Given the description of an element on the screen output the (x, y) to click on. 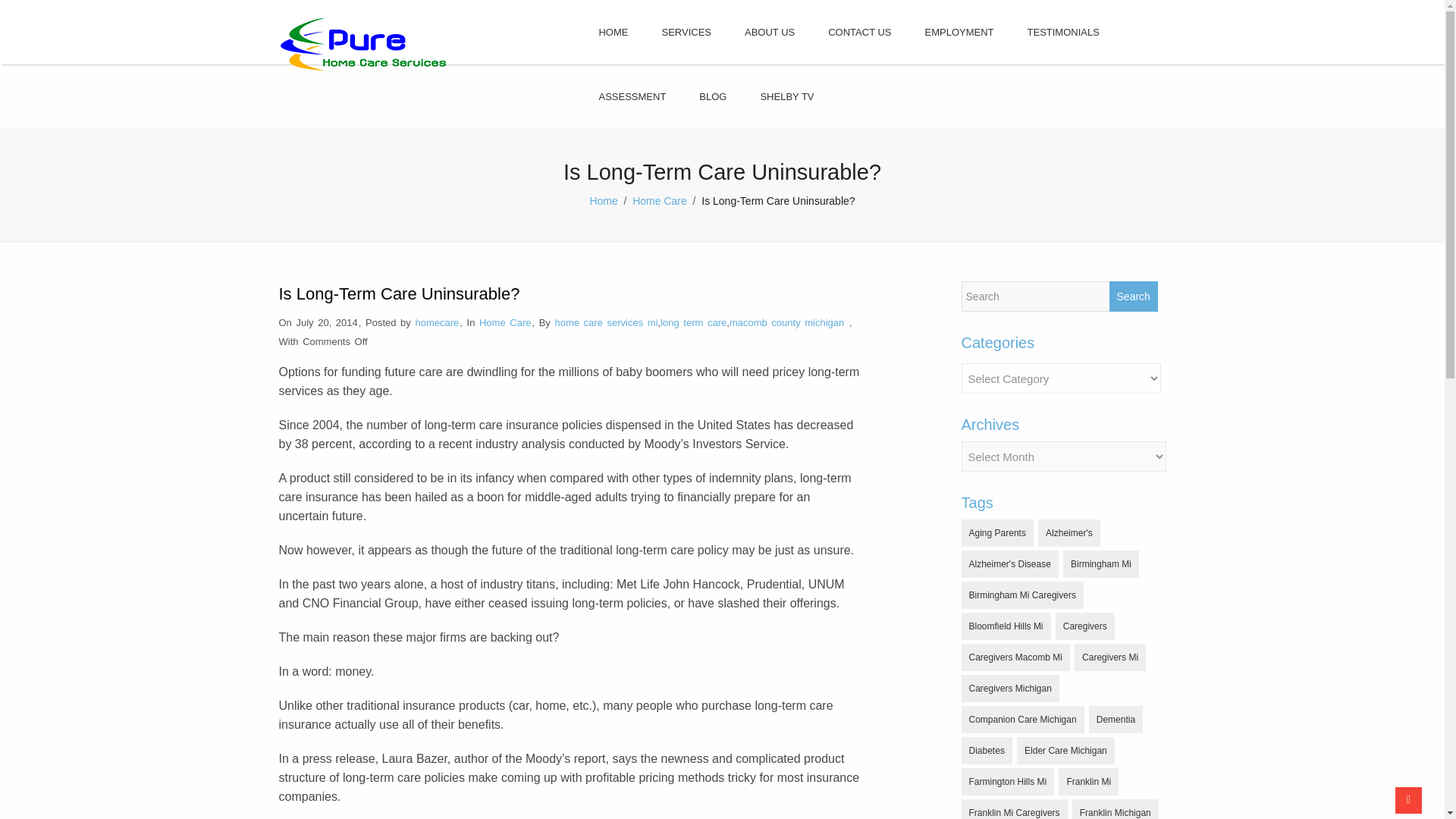
Diabetes (985, 750)
home care services mi (606, 322)
Bloomfield Hills Mi (1005, 625)
long term care (693, 322)
Home Care (505, 322)
ASSESSMENT (631, 96)
Alzheimer'S Disease (1009, 564)
Search (1133, 296)
Caregivers (1085, 625)
Companion Care Michigan (1022, 719)
